Given the description of an element on the screen output the (x, y) to click on. 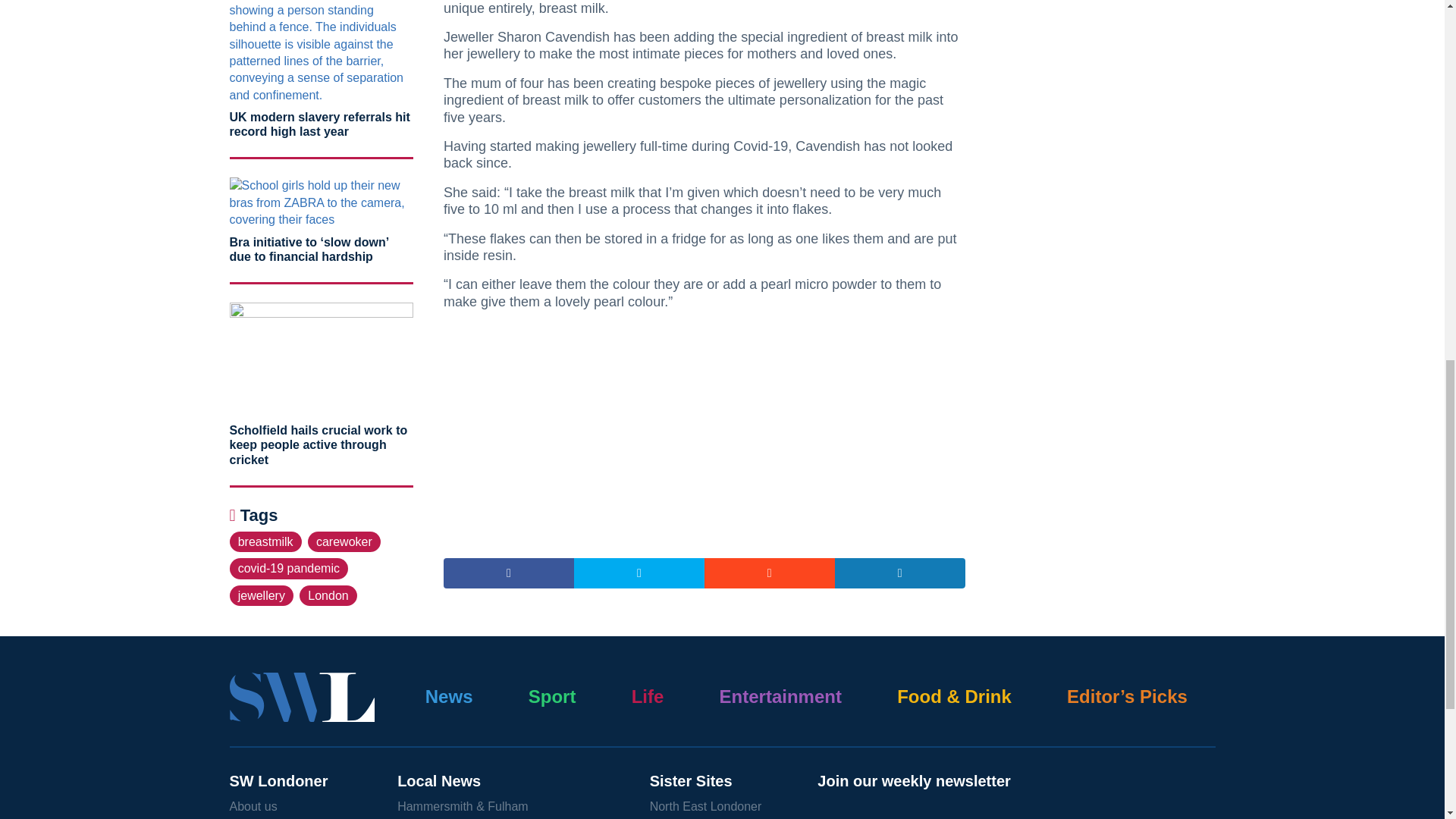
carewoker (343, 541)
breastmilk (264, 541)
UK modern slavery referrals hit record high last year (318, 124)
covid-19 pandemic (287, 567)
London (327, 595)
jewellery (261, 595)
